Given the description of an element on the screen output the (x, y) to click on. 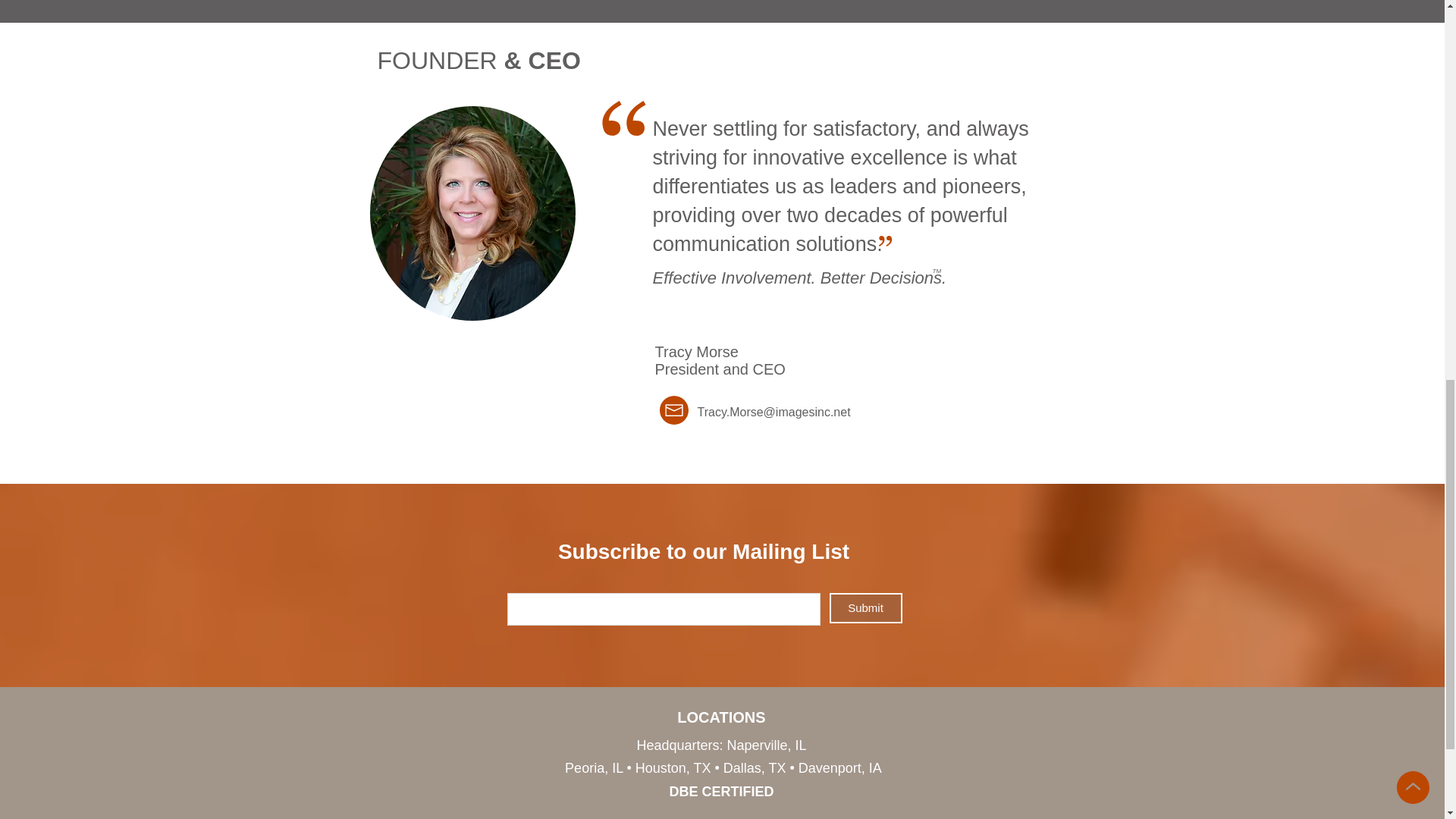
Submit (865, 607)
